Given the description of an element on the screen output the (x, y) to click on. 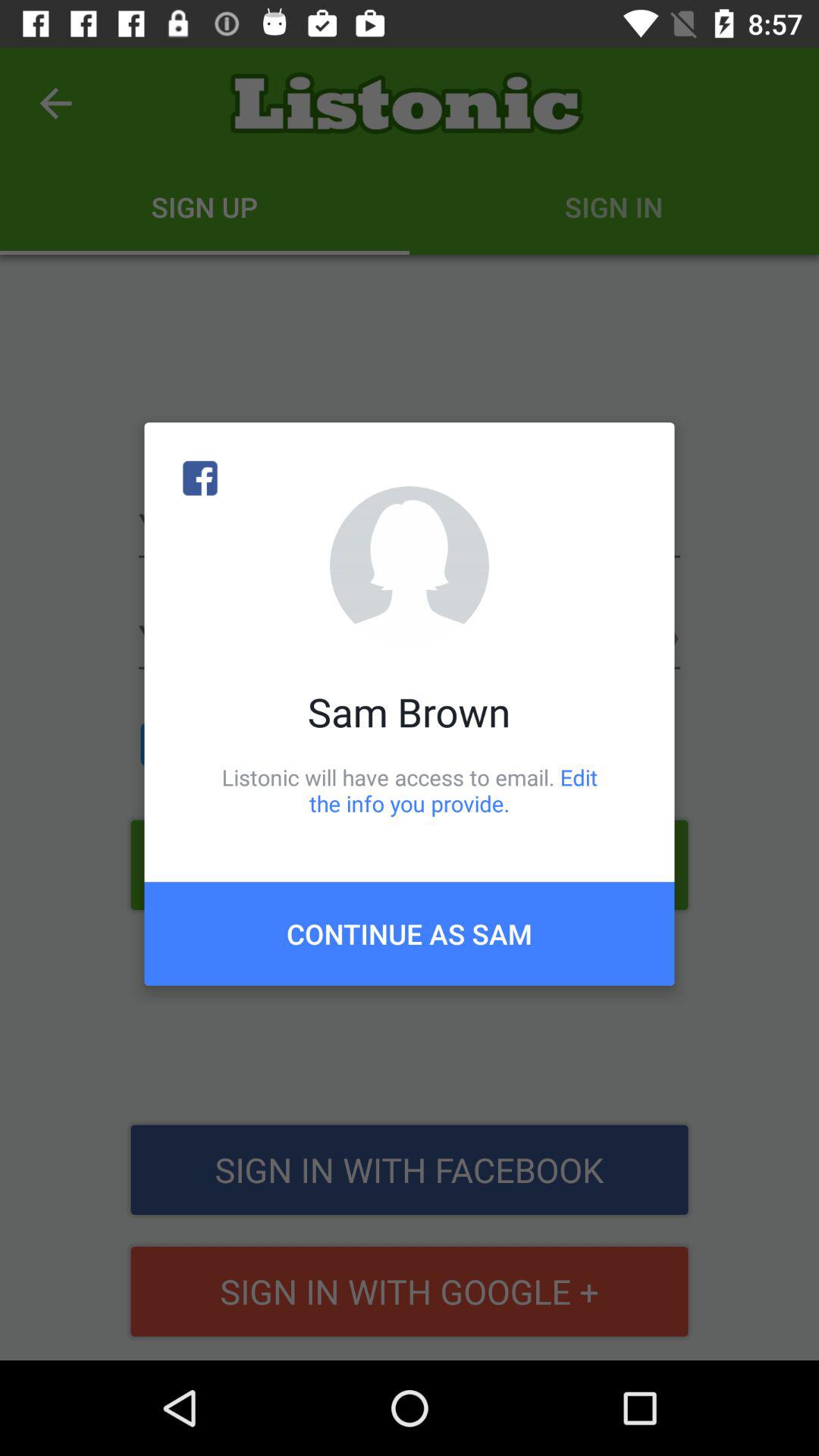
tap the listonic will have (409, 790)
